Given the description of an element on the screen output the (x, y) to click on. 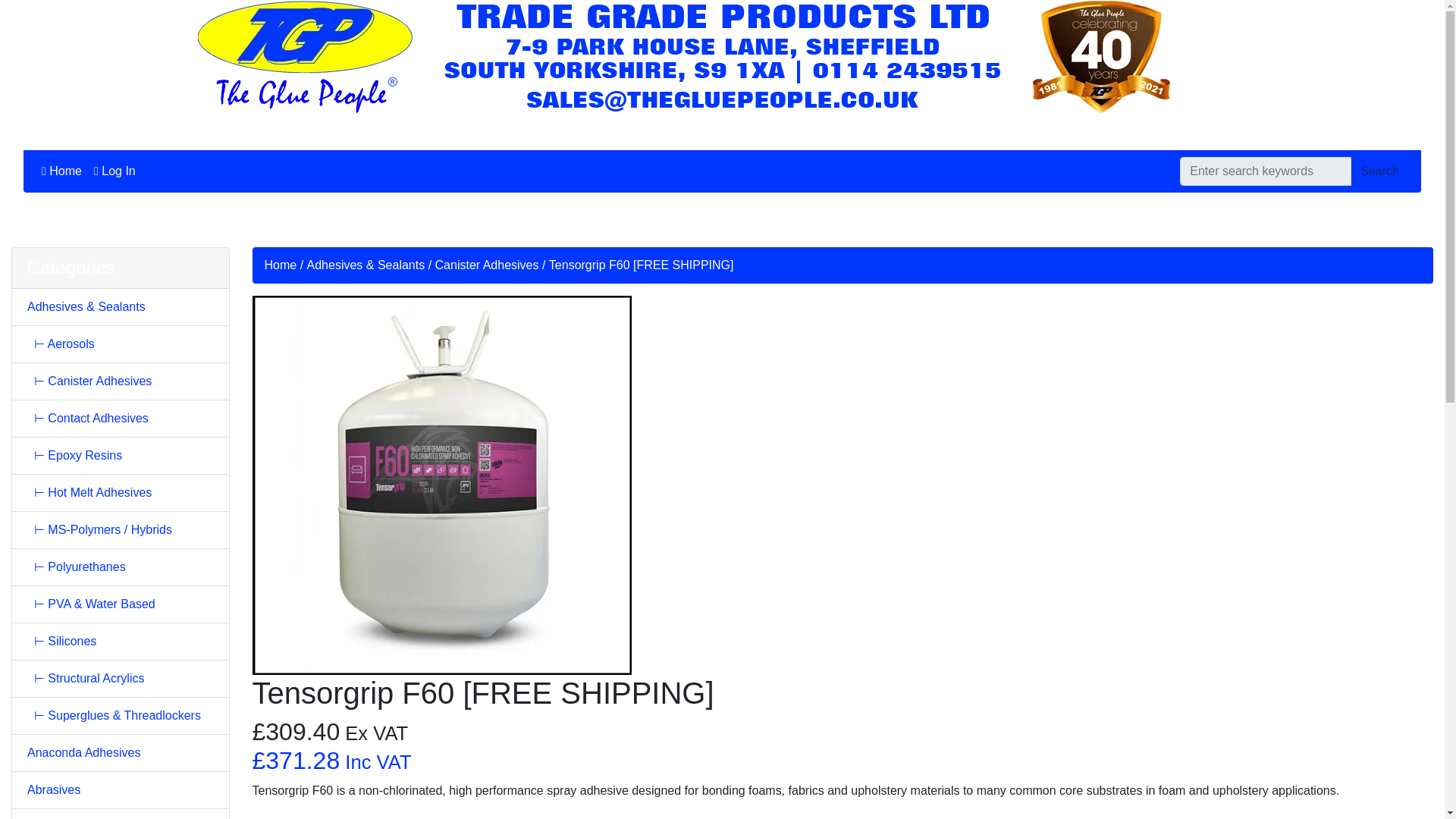
Home (60, 171)
Log In (114, 171)
